Given the description of an element on the screen output the (x, y) to click on. 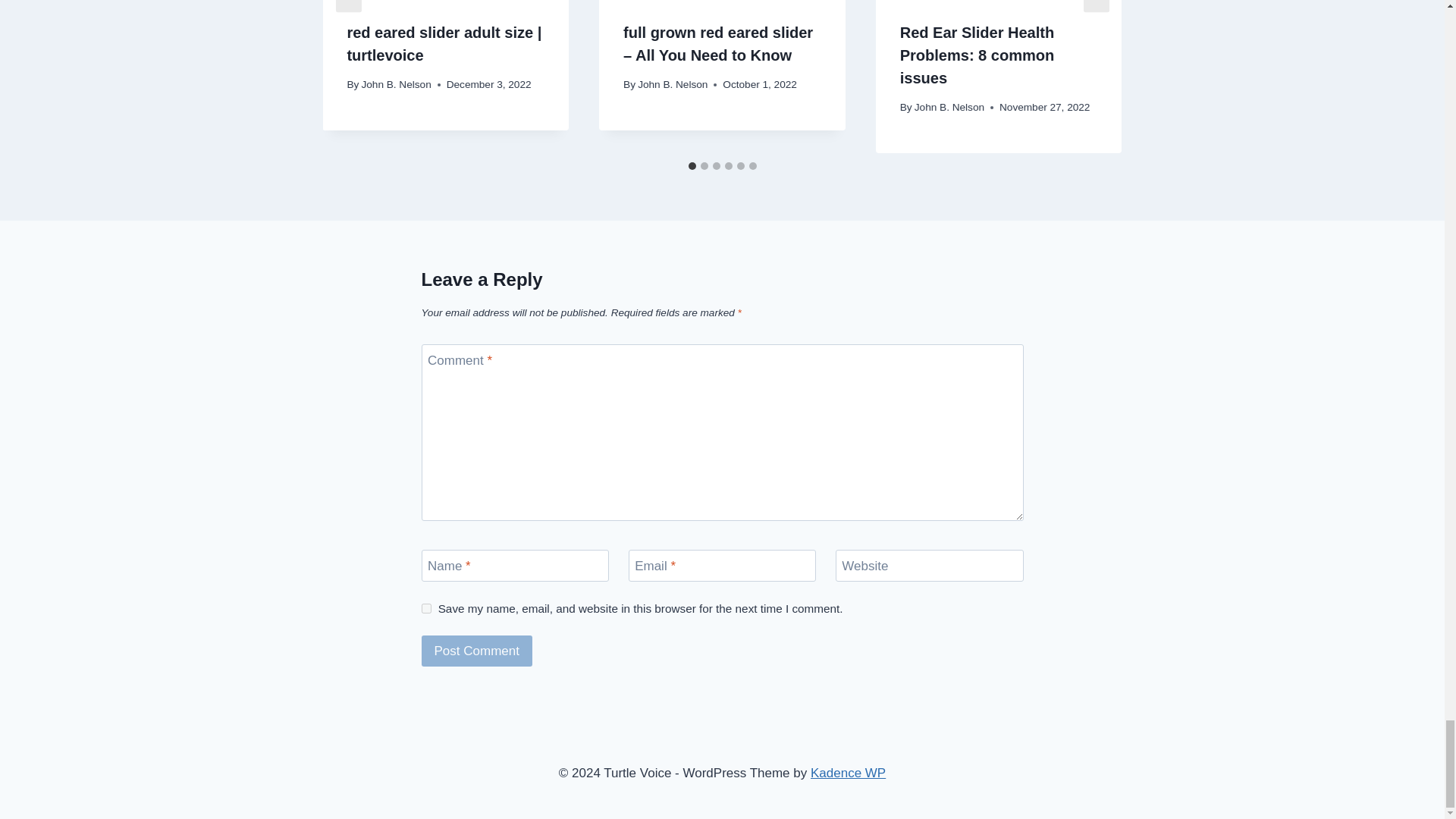
Post Comment (477, 650)
yes (426, 608)
